Given the description of an element on the screen output the (x, y) to click on. 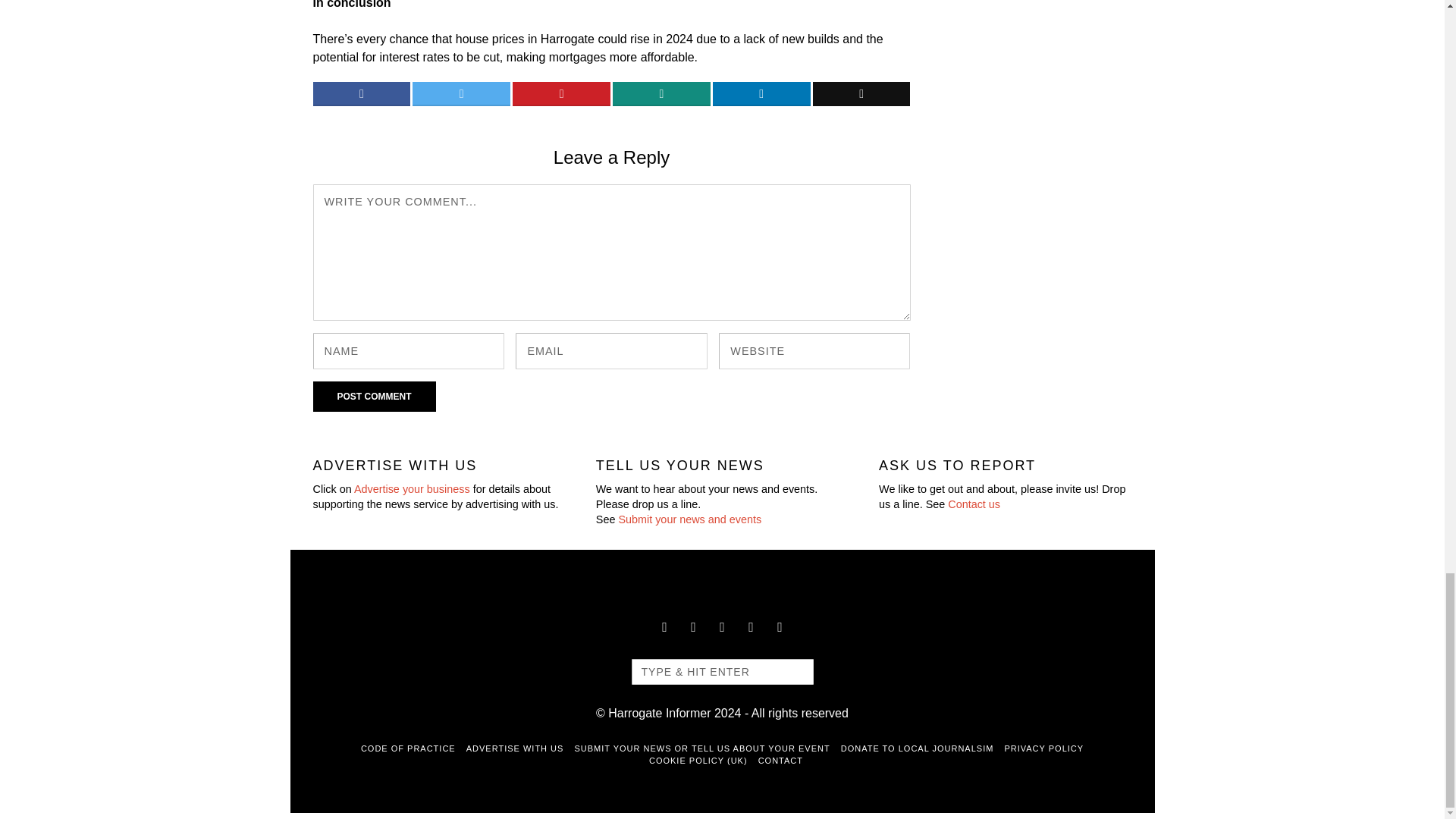
Go (794, 671)
Post Comment (374, 396)
Post Comment (374, 396)
Submit your news and events (689, 519)
Advertise your business (411, 489)
